Given the description of an element on the screen output the (x, y) to click on. 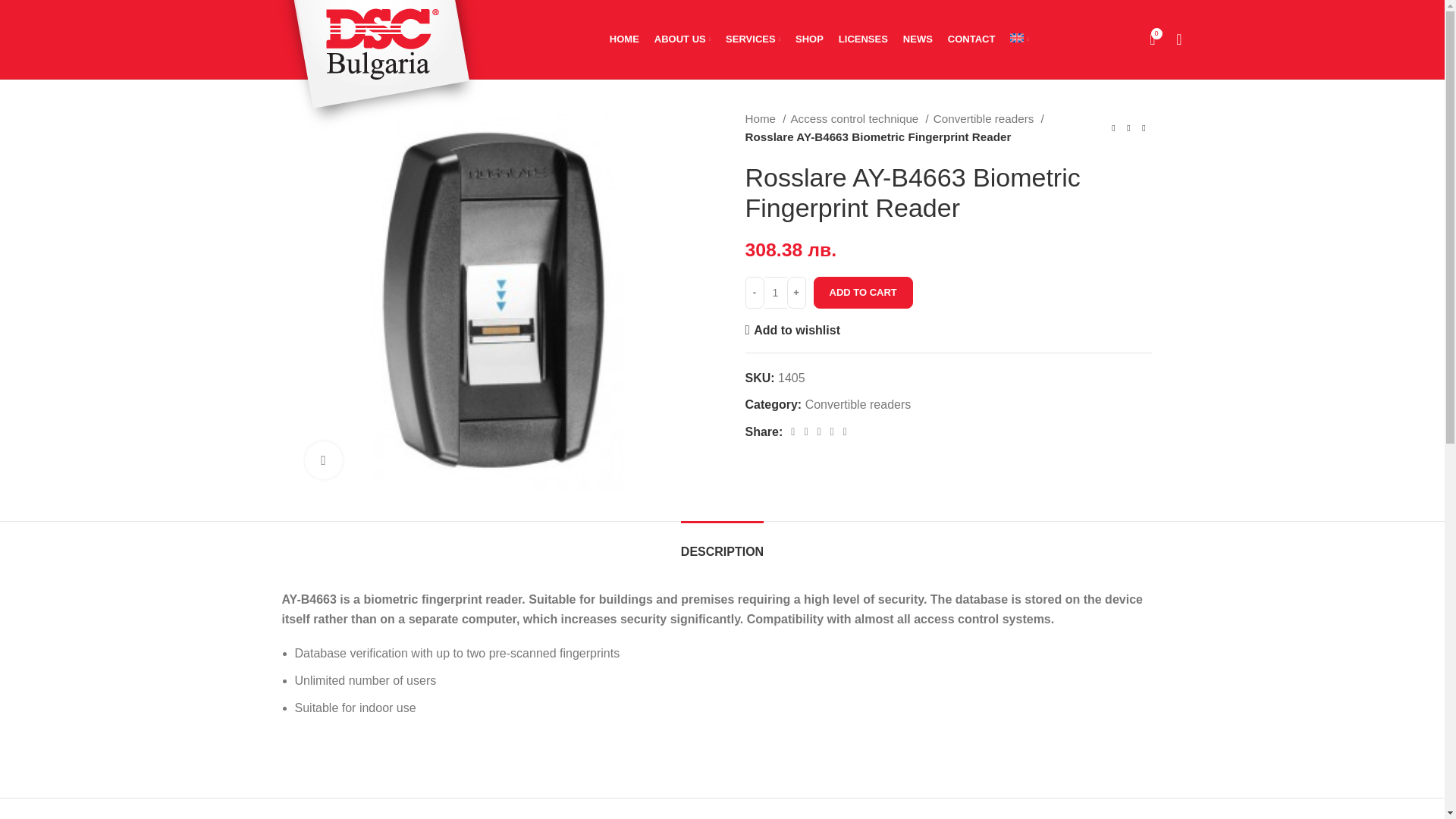
Home (722, 39)
LICENSES (765, 118)
AY-B4663-280x280 (863, 39)
ABOUT US (775, 292)
Access control technique (681, 39)
0 (859, 118)
SHOP (1151, 39)
Shopping cart (809, 39)
Convertible readers (1151, 39)
SERVICES (988, 118)
1 (752, 39)
HOME (775, 292)
CONTACT (624, 39)
